Given the description of an element on the screen output the (x, y) to click on. 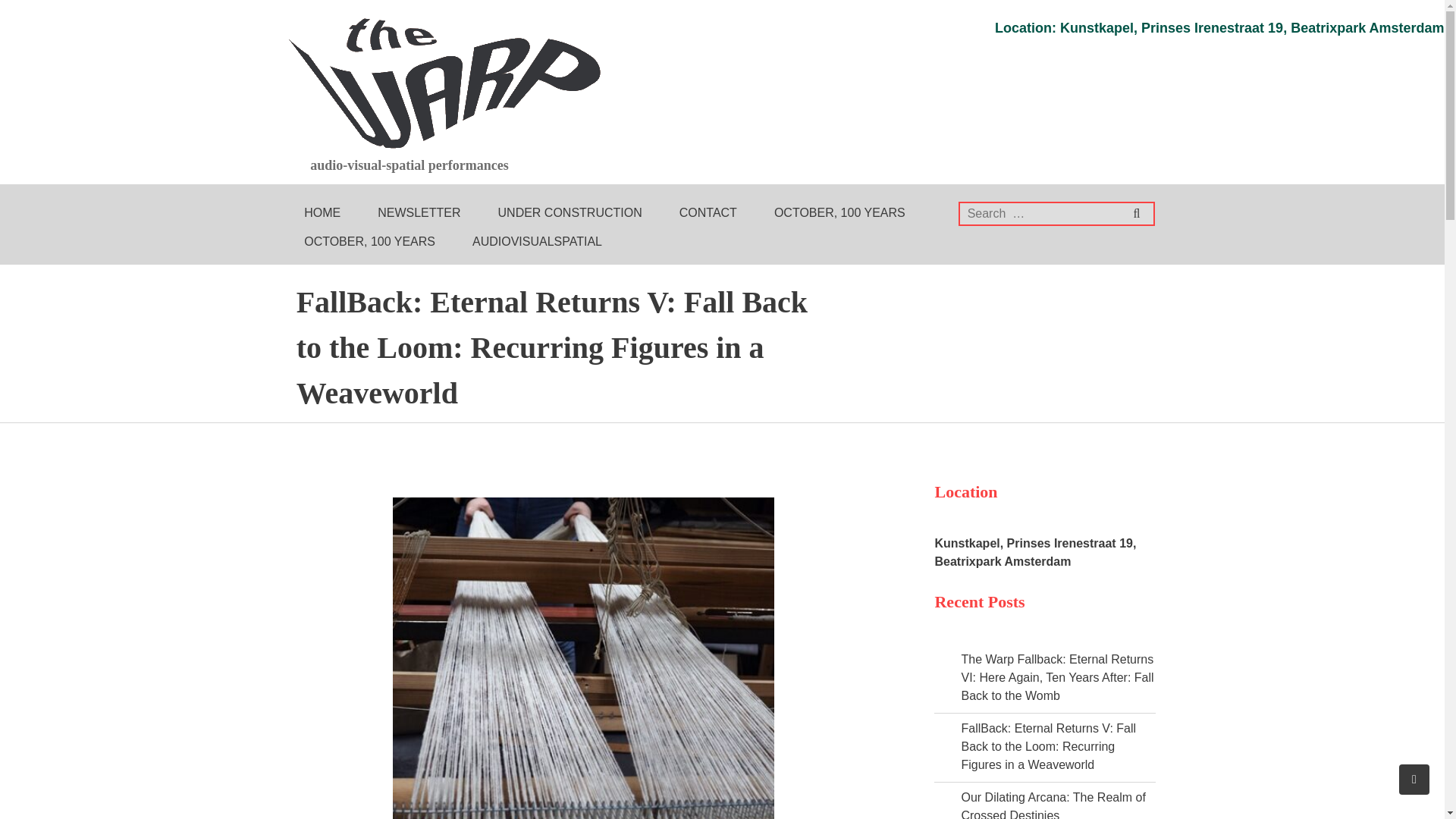
NEWSLETTER (413, 213)
AUDIOVISUALSPATIAL (530, 241)
UNDER CONSTRUCTION (564, 213)
HOME (317, 213)
CONTACT (702, 213)
Subscribe (1386, 12)
OCTOBER, 100 YEARS (364, 241)
Our Dilating Arcana: The Realm of Crossed Destinies (1047, 805)
